Given the description of an element on the screen output the (x, y) to click on. 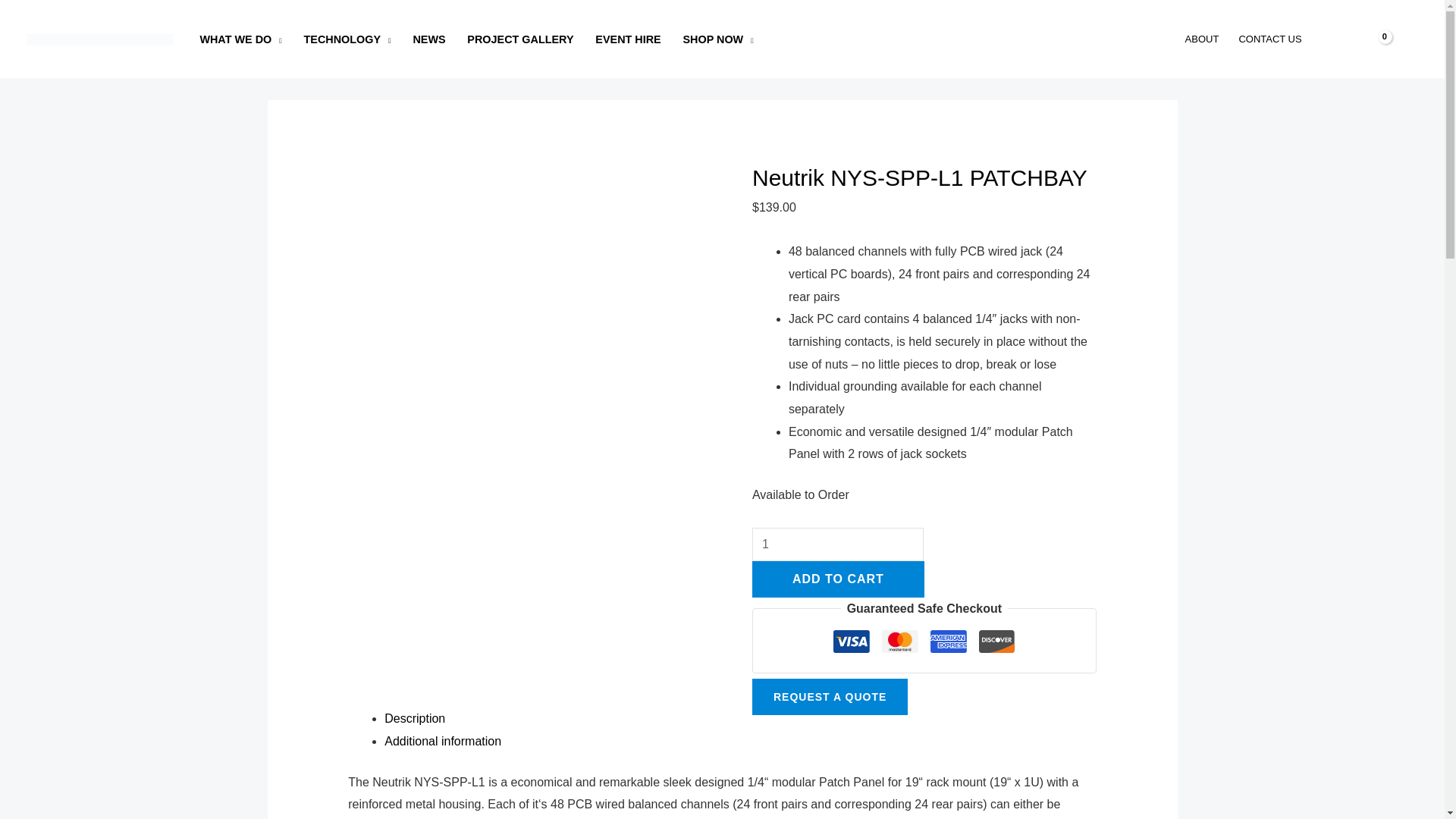
TECHNOLOGY (346, 38)
SHOP NOW (717, 38)
ADD TO CART (838, 579)
WHAT WE DO (240, 38)
NEWS (429, 38)
REQUEST A QUOTE (829, 696)
ABOUT (1201, 39)
CONTACT US (1269, 39)
1 (837, 544)
PROJECT GALLERY (521, 38)
EVENT HIRE (628, 38)
